Given the description of an element on the screen output the (x, y) to click on. 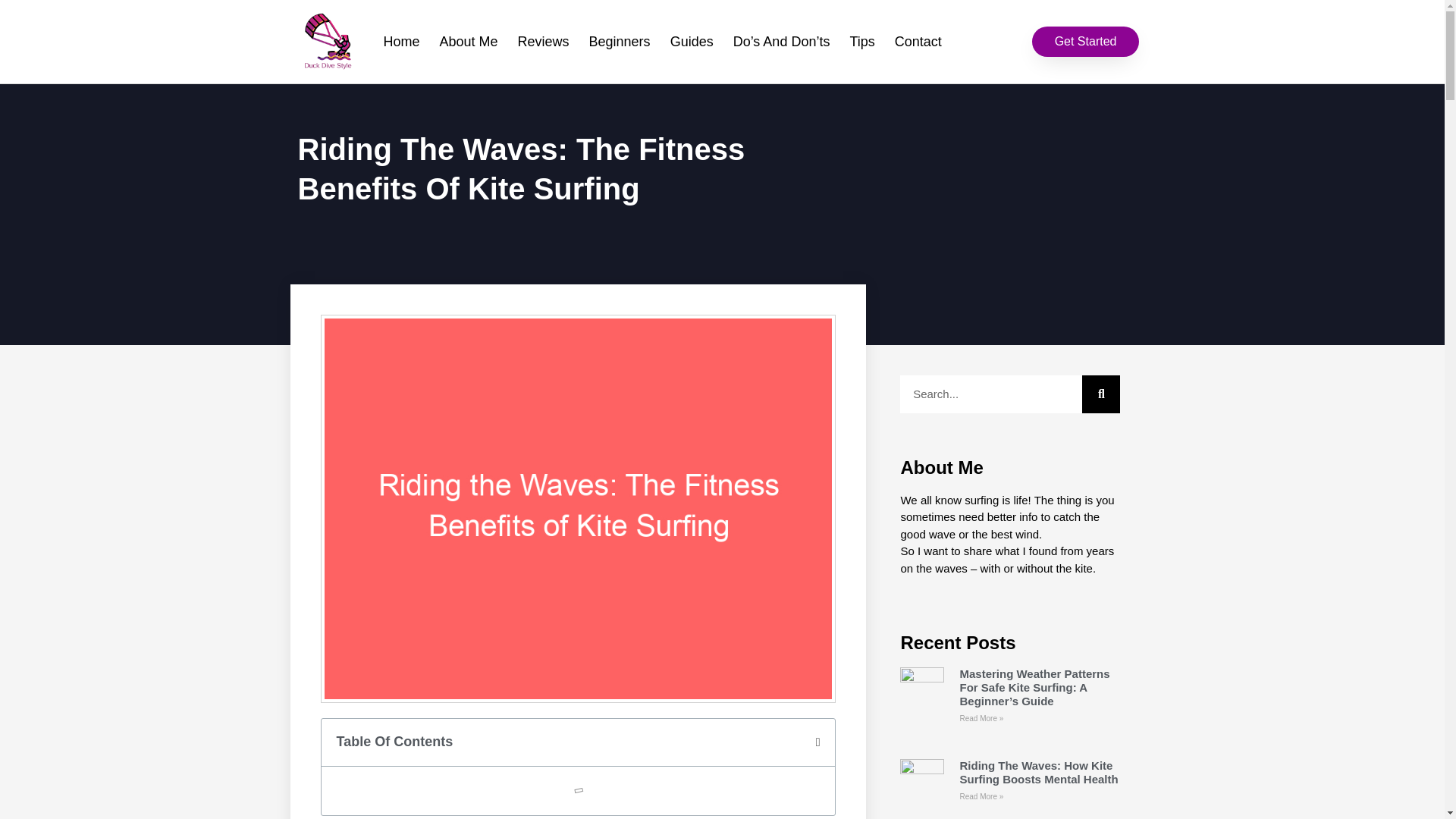
Search (990, 394)
Reviews (543, 41)
Get Started (1086, 41)
Beginners (620, 41)
Tips (861, 41)
About Me (467, 41)
Riding The Waves: How Kite Surfing Boosts Mental Health (1038, 772)
Search (1100, 394)
Contact (918, 41)
Home (400, 41)
